Given the description of an element on the screen output the (x, y) to click on. 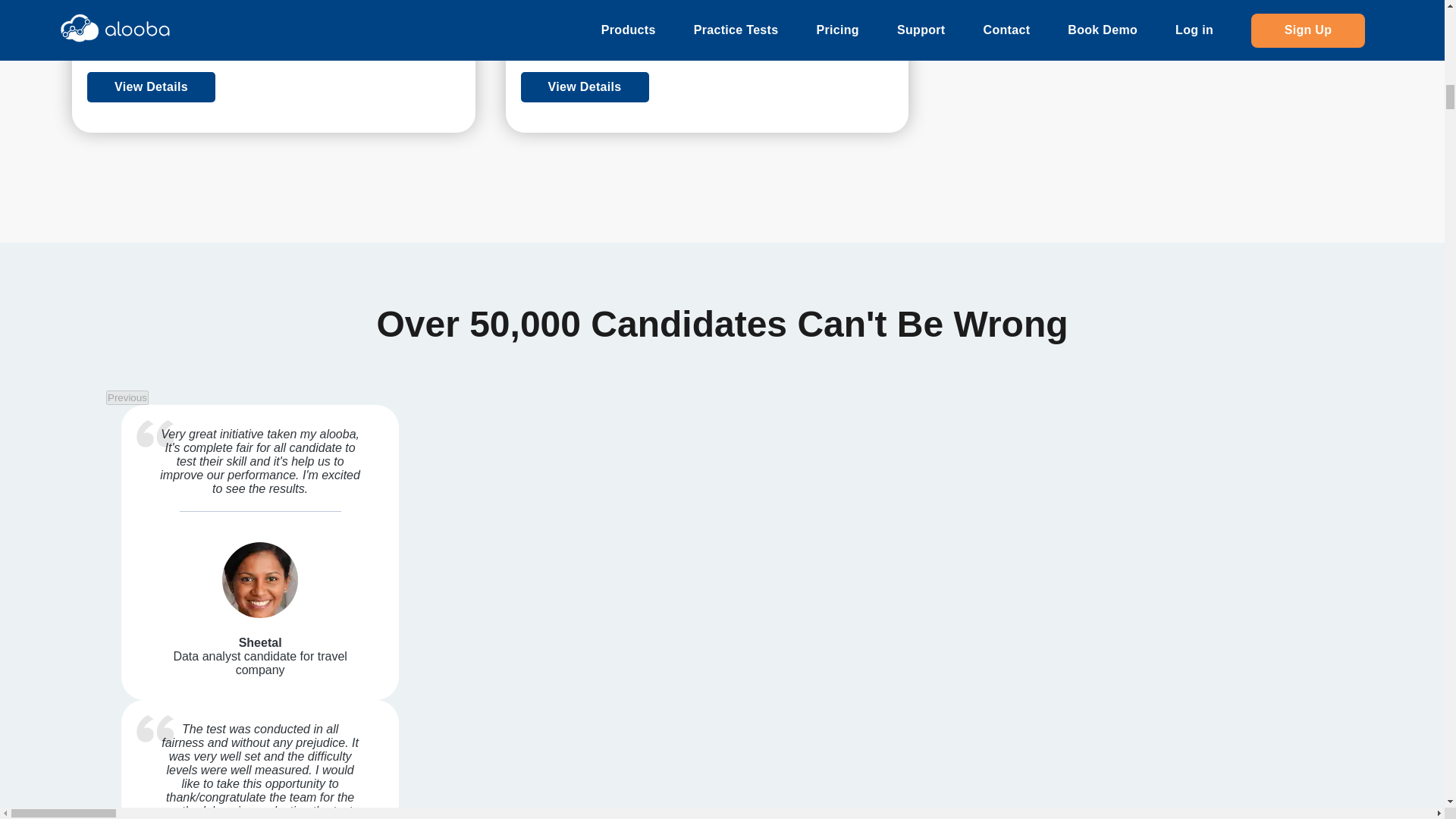
Previous (127, 397)
View Details (707, 87)
View Details (585, 87)
View Details (151, 87)
View Details (273, 87)
